Given the description of an element on the screen output the (x, y) to click on. 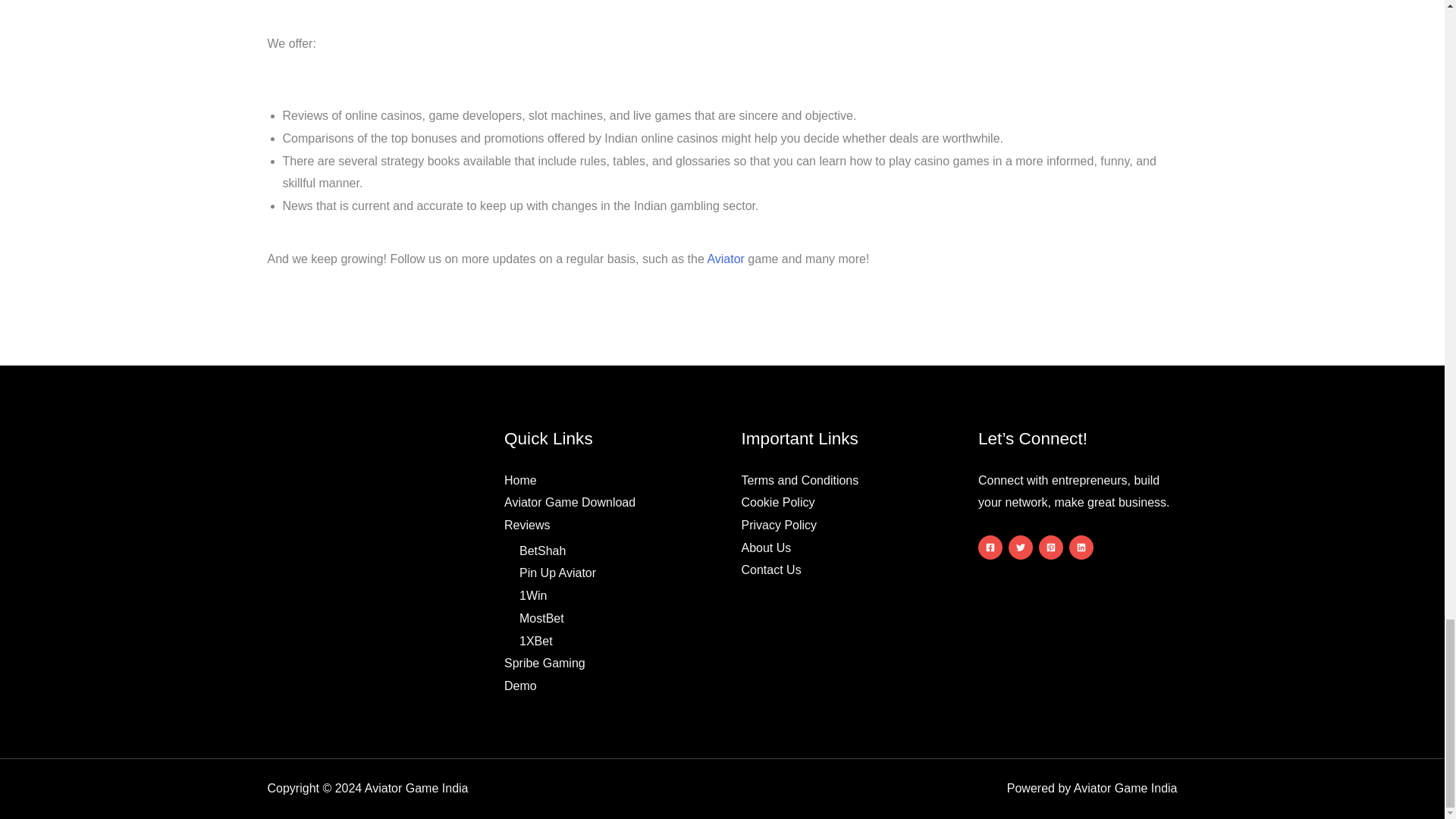
Spribe Gaming (544, 662)
Aviator (725, 258)
1XBet (536, 640)
Aviator Game Download (568, 502)
1Win (533, 594)
MostBet (541, 617)
Home (520, 480)
Cookie Policy (778, 502)
Terms and Conditions (800, 480)
Pin Up Aviator (557, 572)
BetShah (542, 550)
Reviews (526, 524)
Privacy Policy (778, 524)
Demo (520, 685)
